Given the description of an element on the screen output the (x, y) to click on. 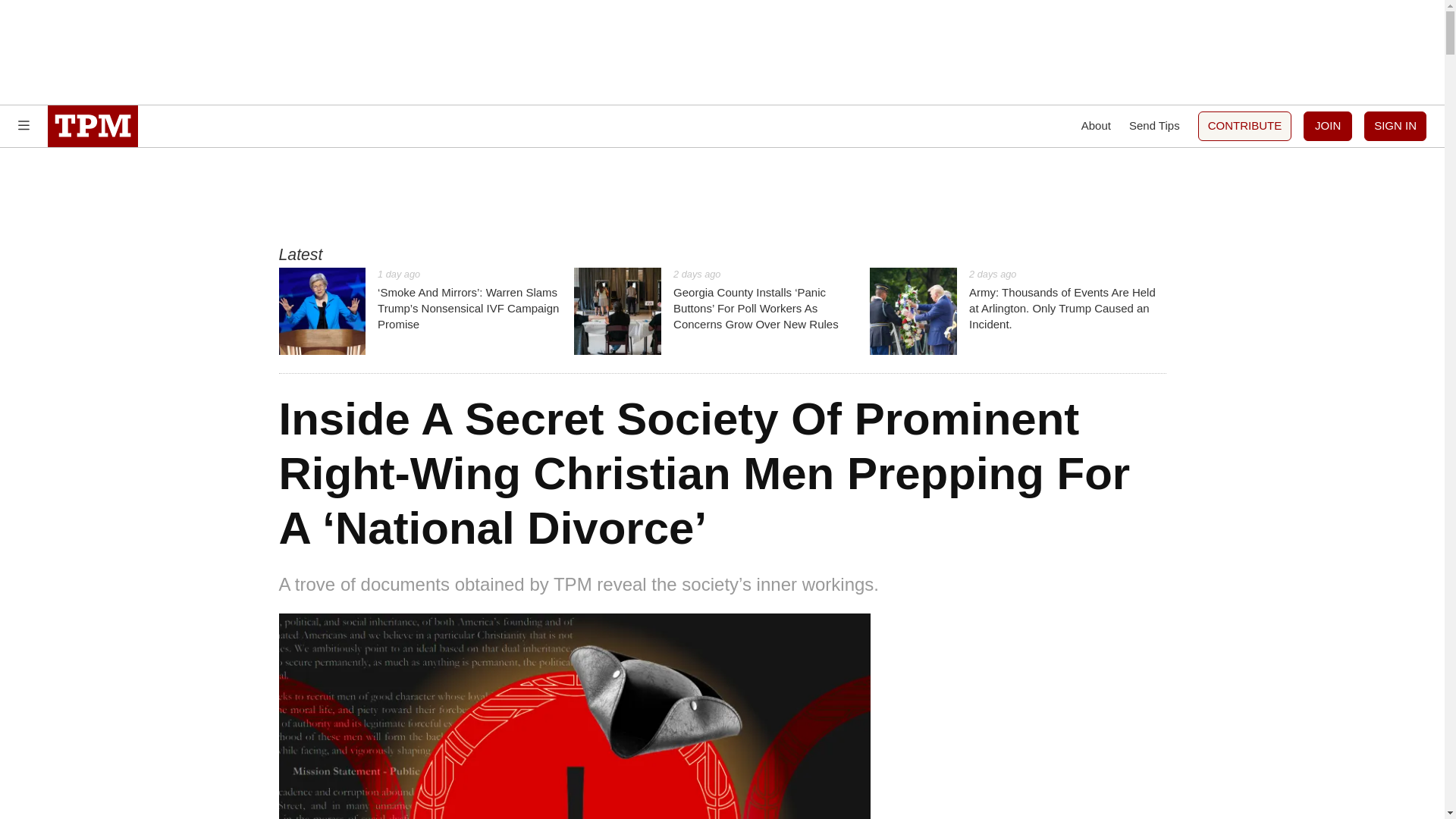
CONTRIBUTE (1245, 125)
SIGN IN (1395, 125)
Send Tips (1154, 125)
About (1095, 125)
JOIN (1327, 125)
